Given the description of an element on the screen output the (x, y) to click on. 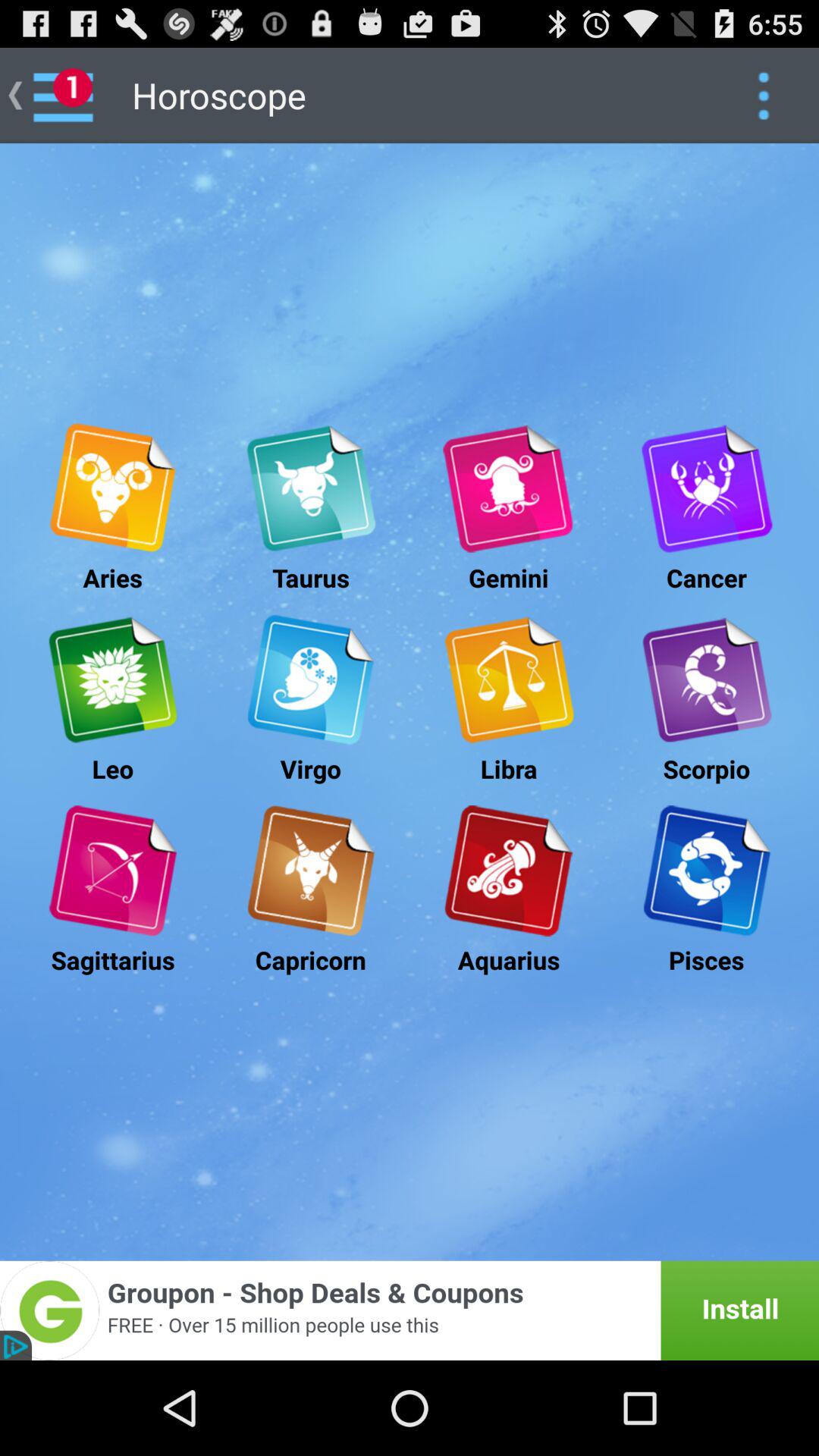
leo image (112, 679)
